Given the description of an element on the screen output the (x, y) to click on. 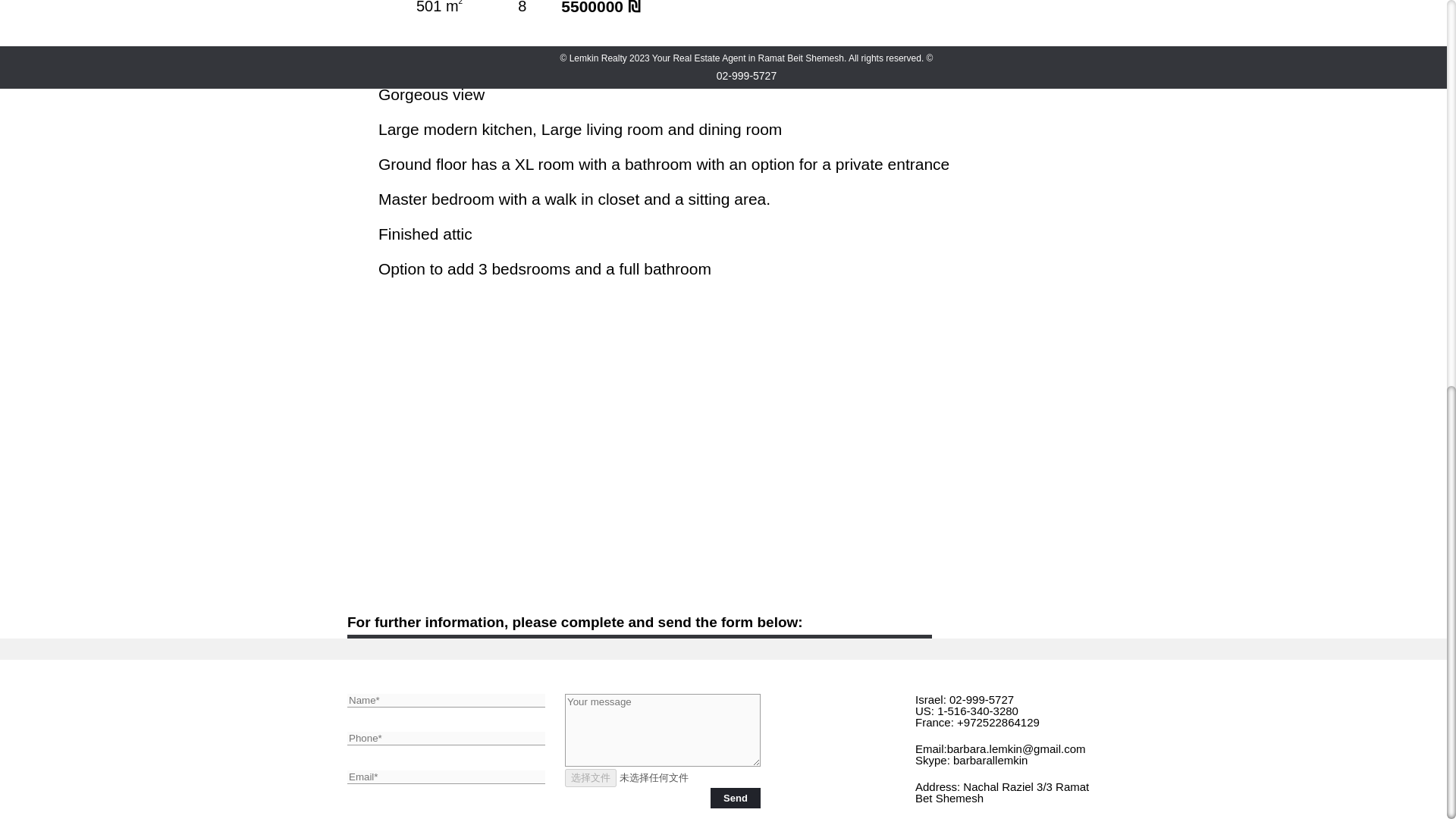
Skype: barbarallemkin (971, 759)
Send (735, 797)
Send (735, 797)
02-999-5727 (981, 698)
1-516-340-3280 (977, 710)
